Given the description of an element on the screen output the (x, y) to click on. 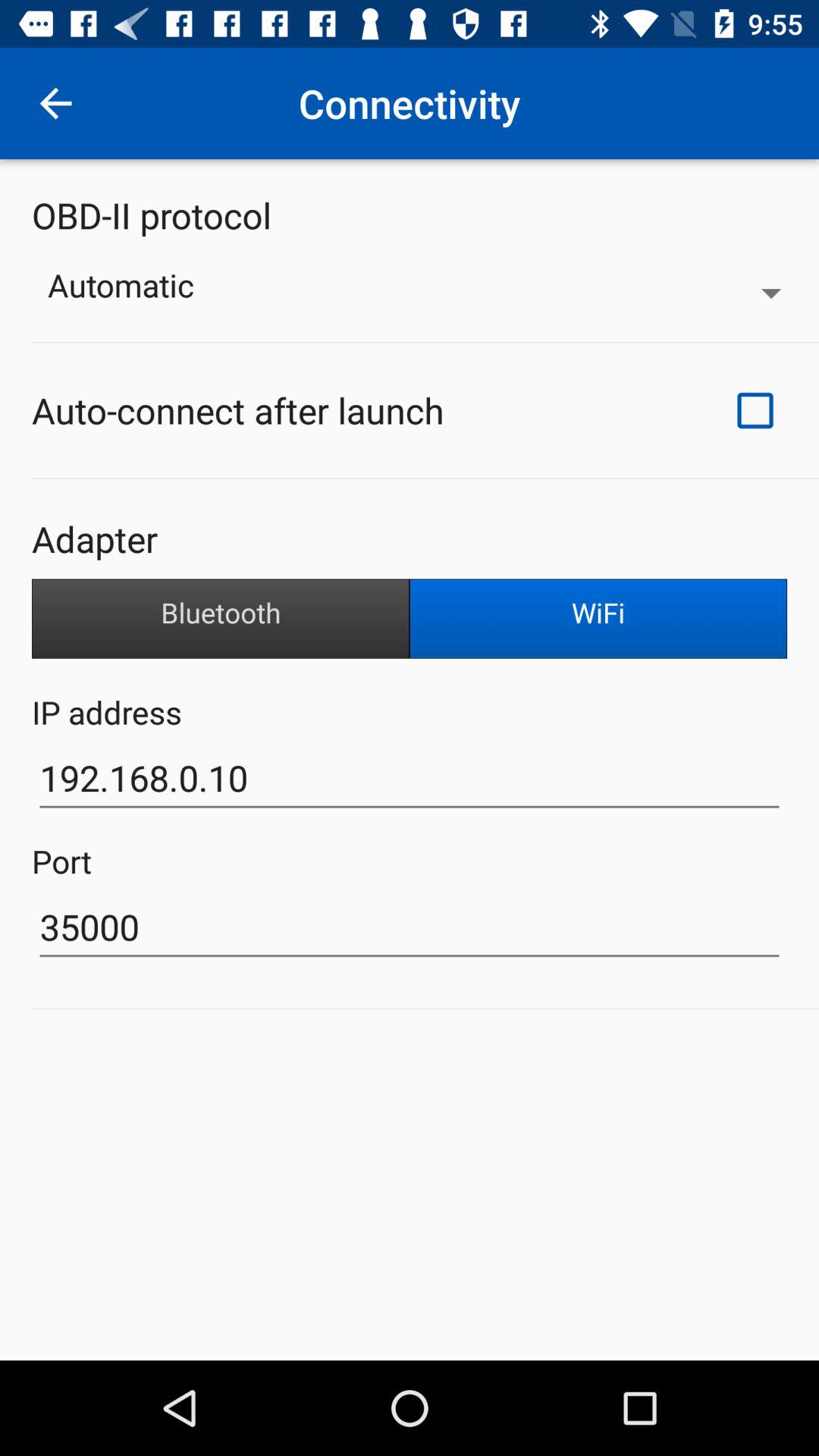
select bluetooth on the left (220, 618)
